Given the description of an element on the screen output the (x, y) to click on. 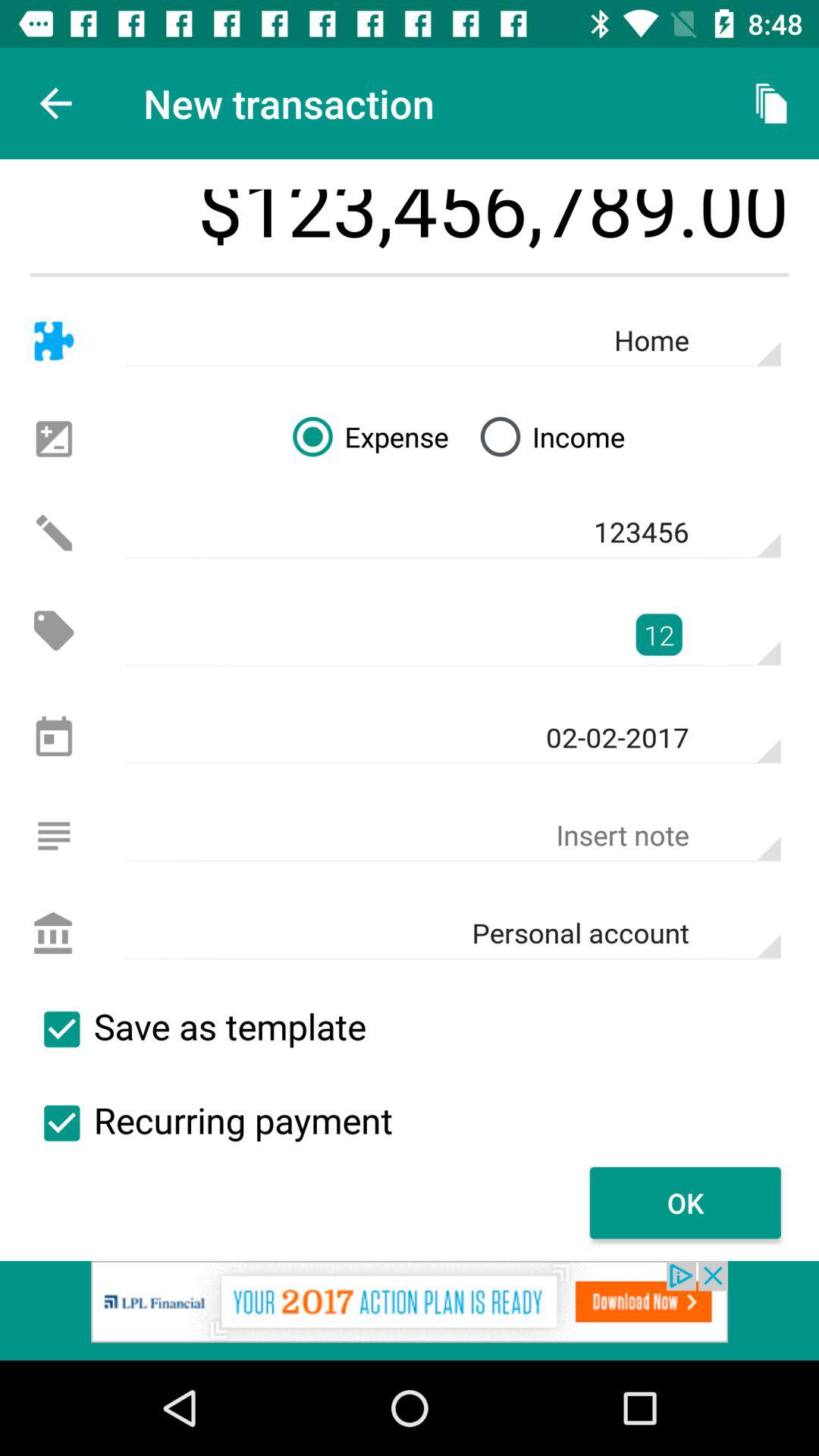
customize the name (53, 341)
